Given the description of an element on the screen output the (x, y) to click on. 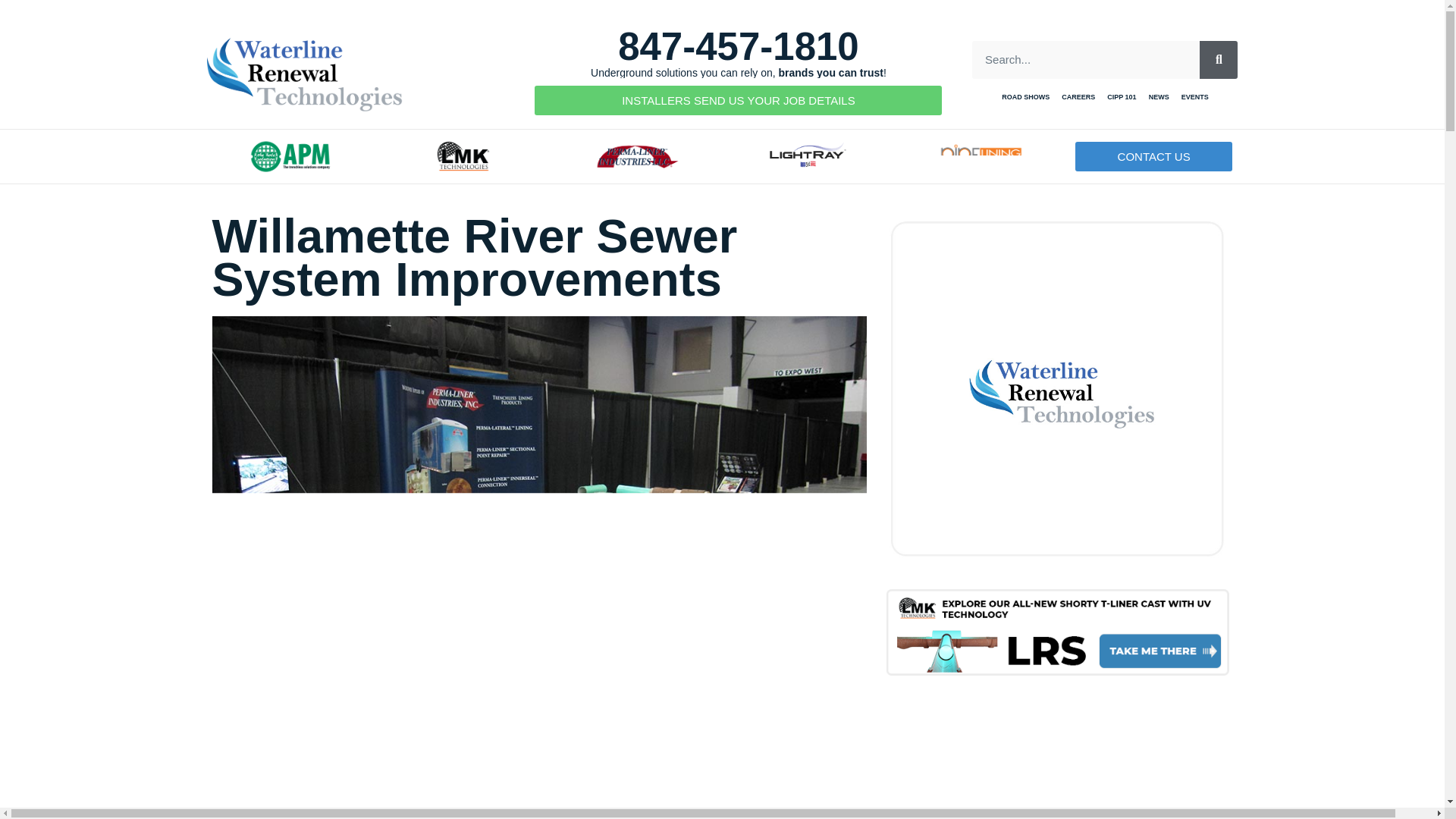
Search (1218, 59)
INSTALLERS SEND US YOUR JOB DETAILS (738, 100)
CIPP 101 (1120, 97)
CONTACT US (1154, 156)
ROAD SHOWS (1025, 97)
EVENTS (1194, 97)
Search (1085, 59)
CAREERS (1077, 97)
NEWS (1158, 97)
